Given the description of an element on the screen output the (x, y) to click on. 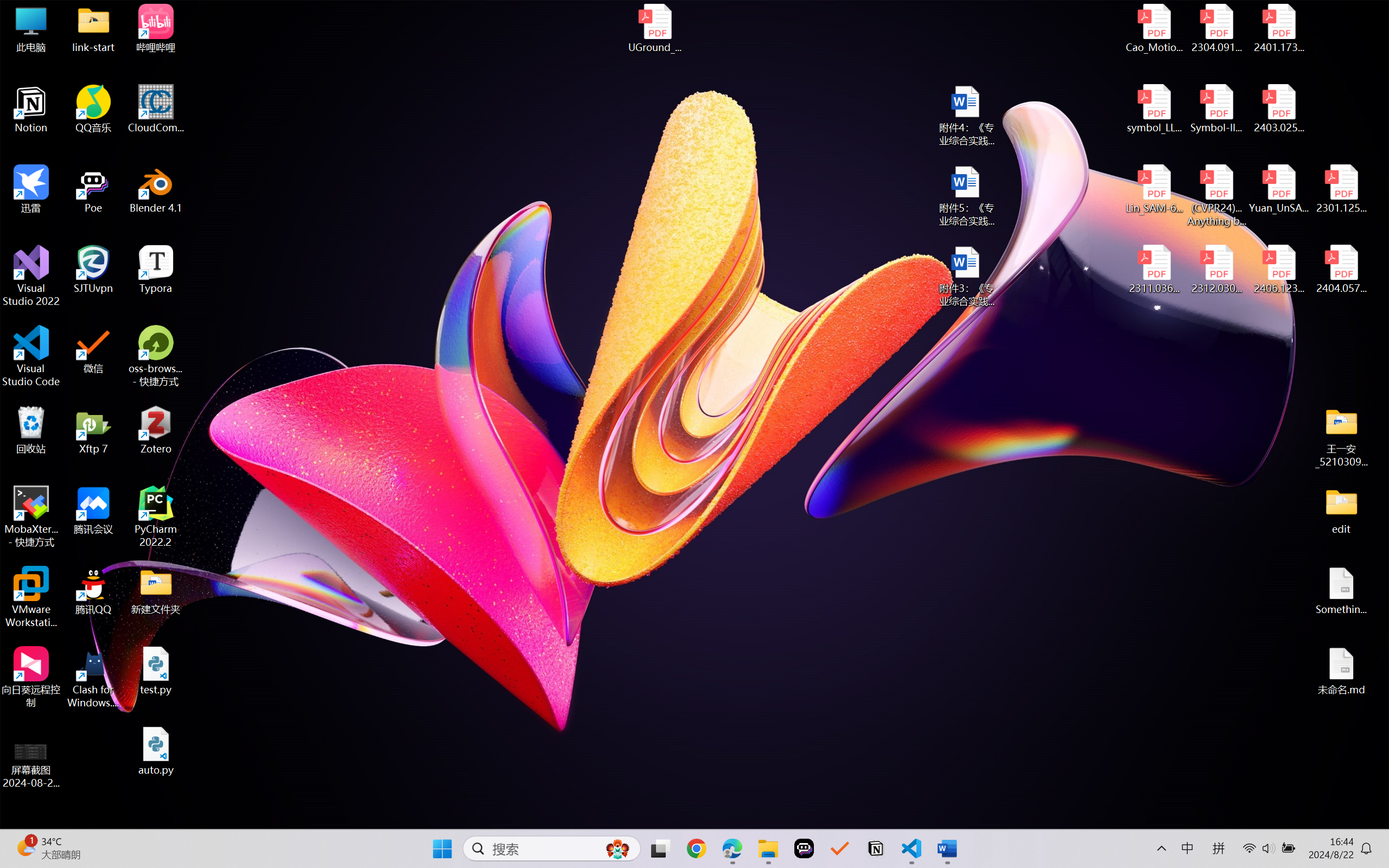
auto.py (156, 751)
2404.05719v1.pdf (1340, 269)
UGround_paper.pdf (654, 28)
Blender 4.1 (156, 189)
